Given the description of an element on the screen output the (x, y) to click on. 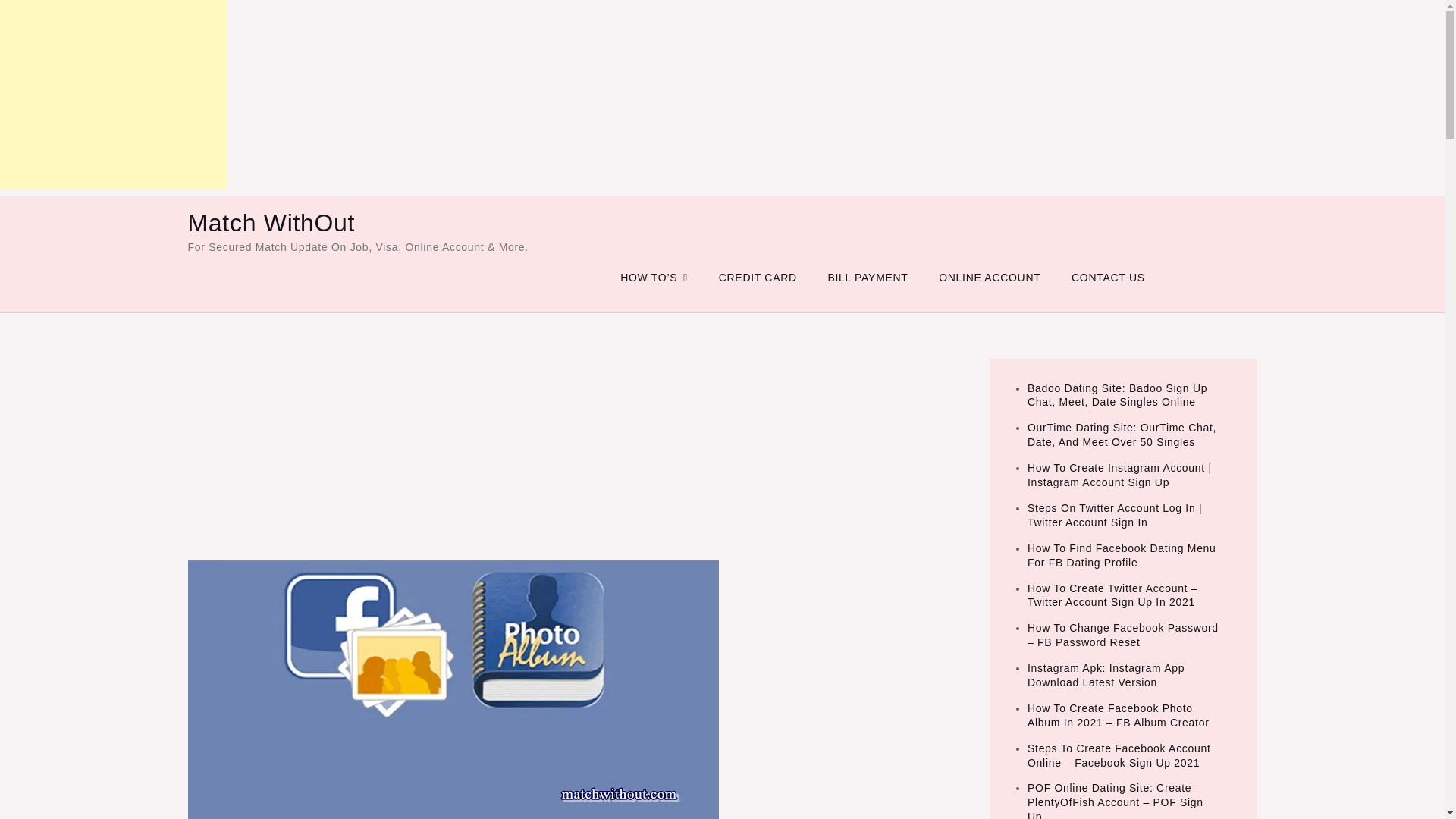
CONTACT US (1108, 277)
BILL PAYMENT (867, 277)
CREDIT CARD (757, 277)
Match WithOut (271, 222)
ONLINE ACCOUNT (989, 277)
